Given the description of an element on the screen output the (x, y) to click on. 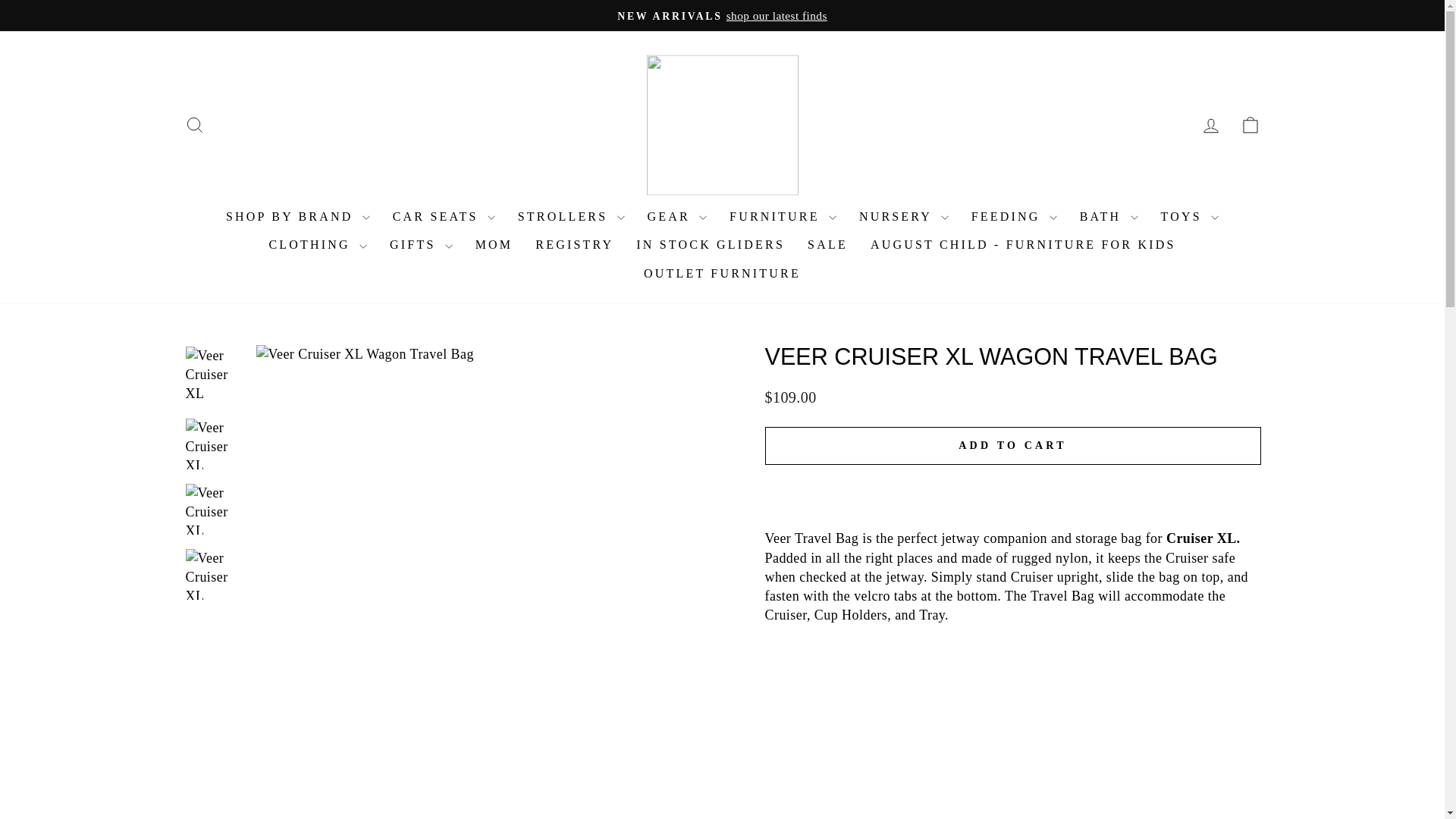
ACCOUNT (1210, 125)
ICON-BAG-MINIMAL (1249, 124)
ICON-SEARCH (194, 124)
NEW ARRIVALSshop our latest finds (722, 15)
